Given the description of an element on the screen output the (x, y) to click on. 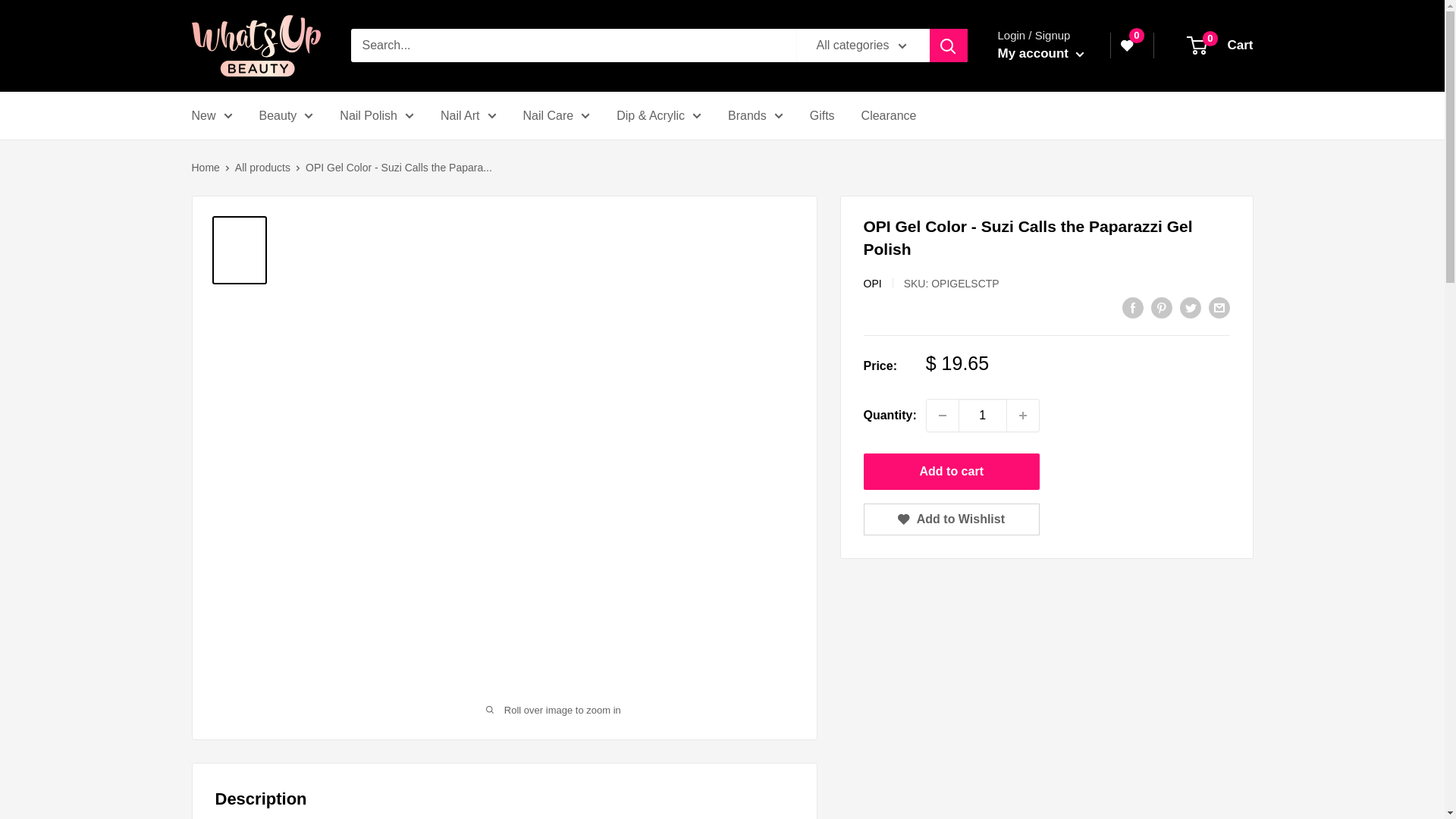
Decrease quantity by 1 (942, 415)
Increase quantity by 1 (1023, 415)
1 (982, 415)
